Given the description of an element on the screen output the (x, y) to click on. 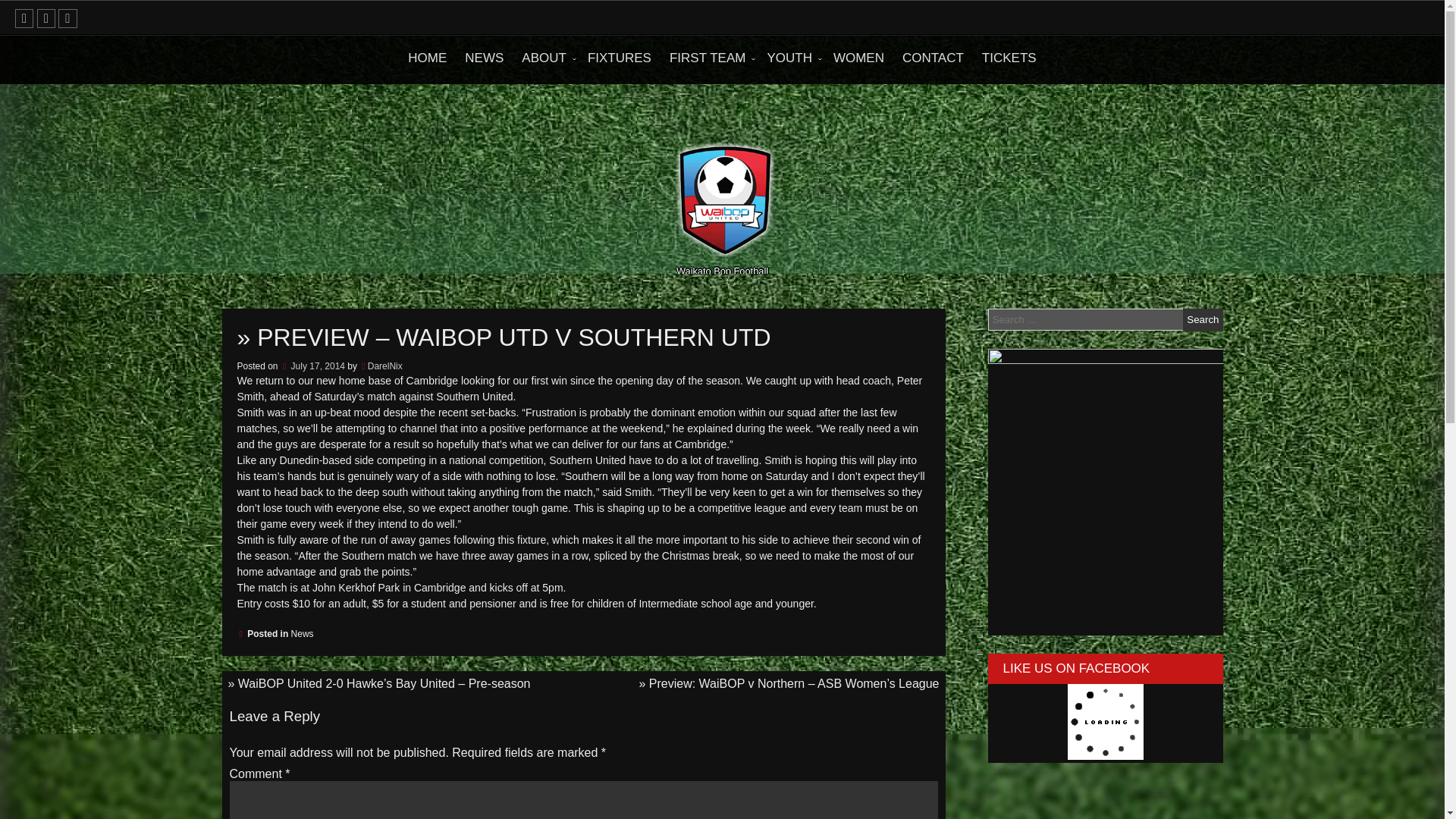
CONTACT (932, 58)
ABOUT (545, 58)
July 17, 2014 (313, 366)
FIRST TEAM (709, 58)
TICKETS (1008, 58)
Search (1202, 319)
Search (1202, 319)
WOMEN (858, 58)
Search (1202, 319)
YOUTH (790, 58)
